Given the description of an element on the screen output the (x, y) to click on. 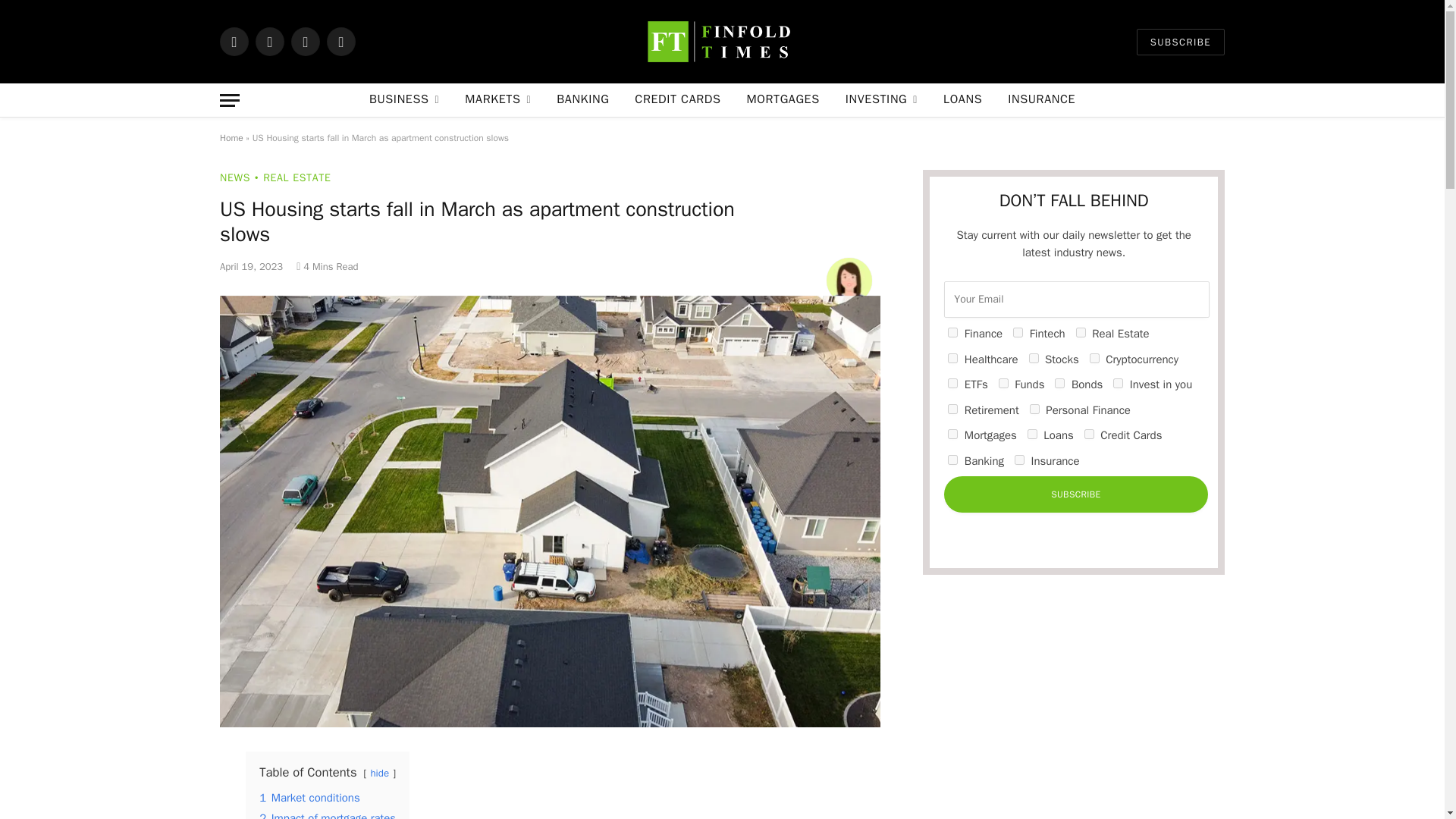
Bonds (1059, 383)
Stocks (1034, 357)
Personal Finance (1034, 409)
Retirement (952, 409)
LinkedIn (340, 41)
Facebook (233, 41)
Fintech (1018, 332)
Finfold Times (721, 41)
BUSINESS (403, 100)
Credit Cards (1089, 433)
